Given the description of an element on the screen output the (x, y) to click on. 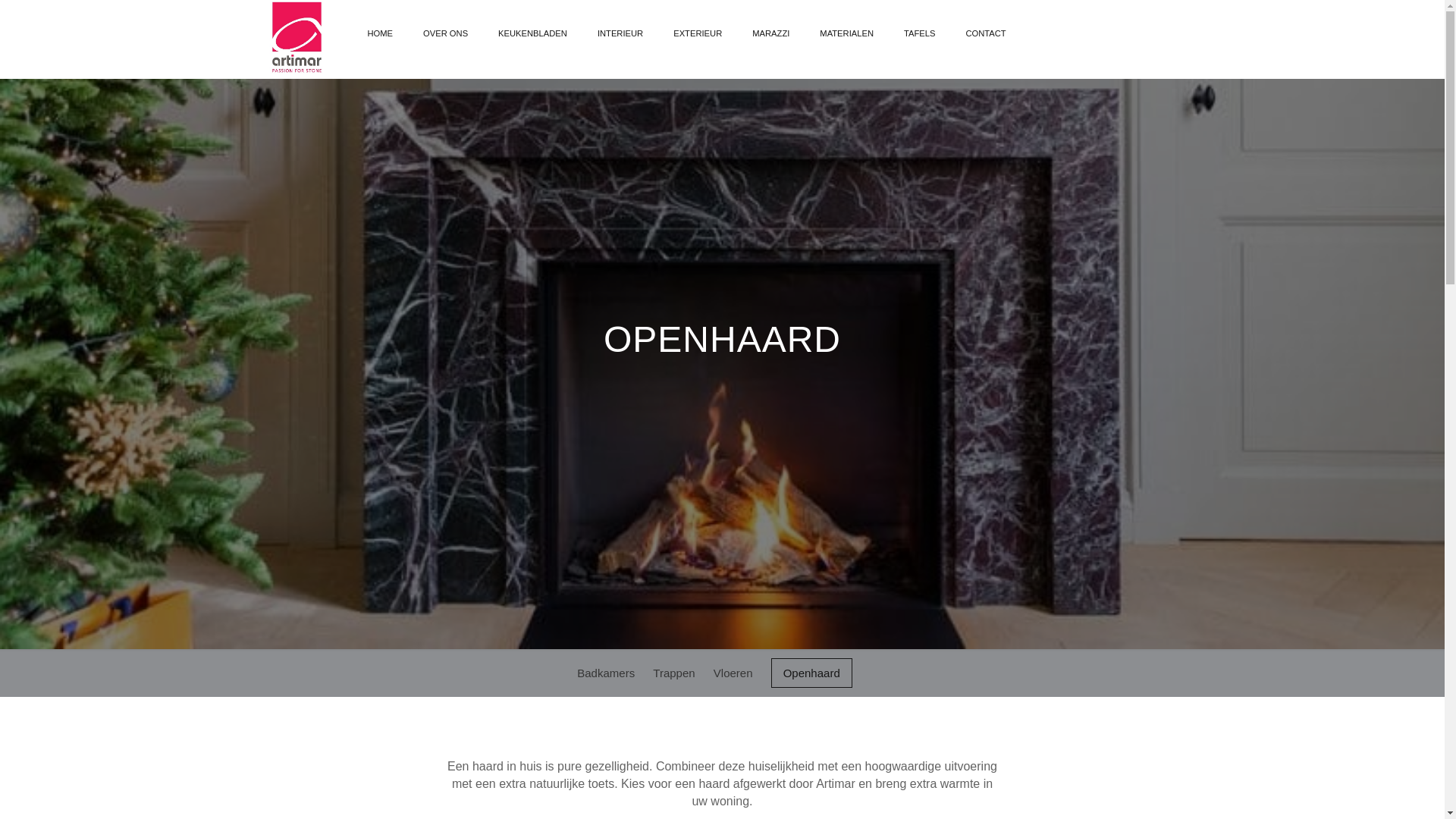
MARAZZI Element type: text (770, 32)
Trappen Element type: text (673, 672)
TAFELS Element type: text (919, 32)
OVER ONS Element type: text (445, 32)
INTERIEUR Element type: text (620, 32)
Openhaard Element type: text (811, 672)
EXTERIEUR Element type: text (697, 32)
CONTACT Element type: text (985, 32)
MATERIALEN Element type: text (846, 32)
KEUKENBLADEN Element type: text (532, 32)
HOME Element type: text (379, 32)
Badkamers Element type: text (605, 672)
Vloeren Element type: text (733, 672)
